Given the description of an element on the screen output the (x, y) to click on. 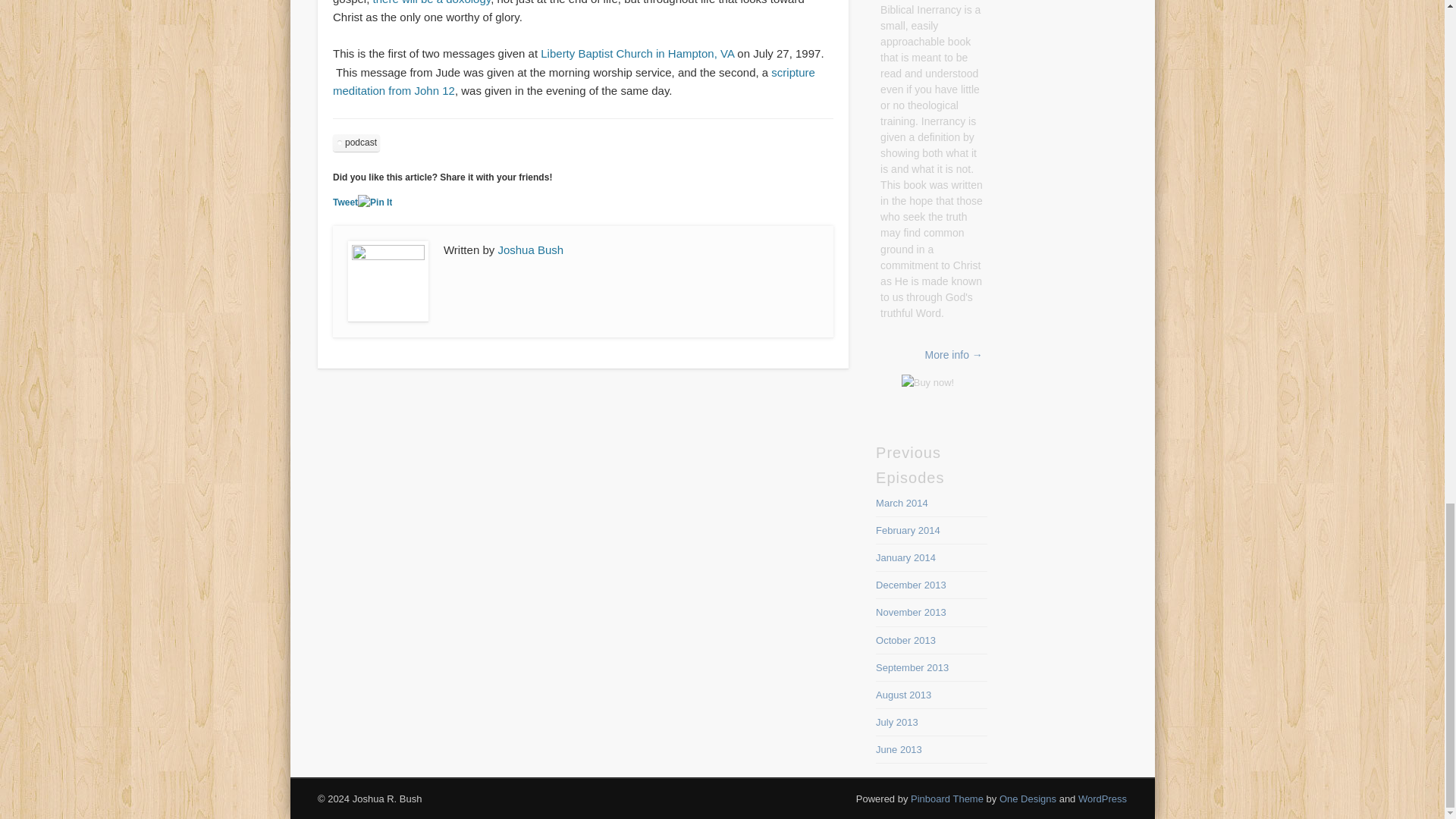
Liberty Baptist Church in Hampton, VA (636, 52)
Joshua Bush (530, 249)
Tweet (345, 202)
Jude 24-25 (432, 2)
podcast (356, 142)
scripture meditation from John 12 (574, 81)
there will be a doxology (432, 2)
